Given the description of an element on the screen output the (x, y) to click on. 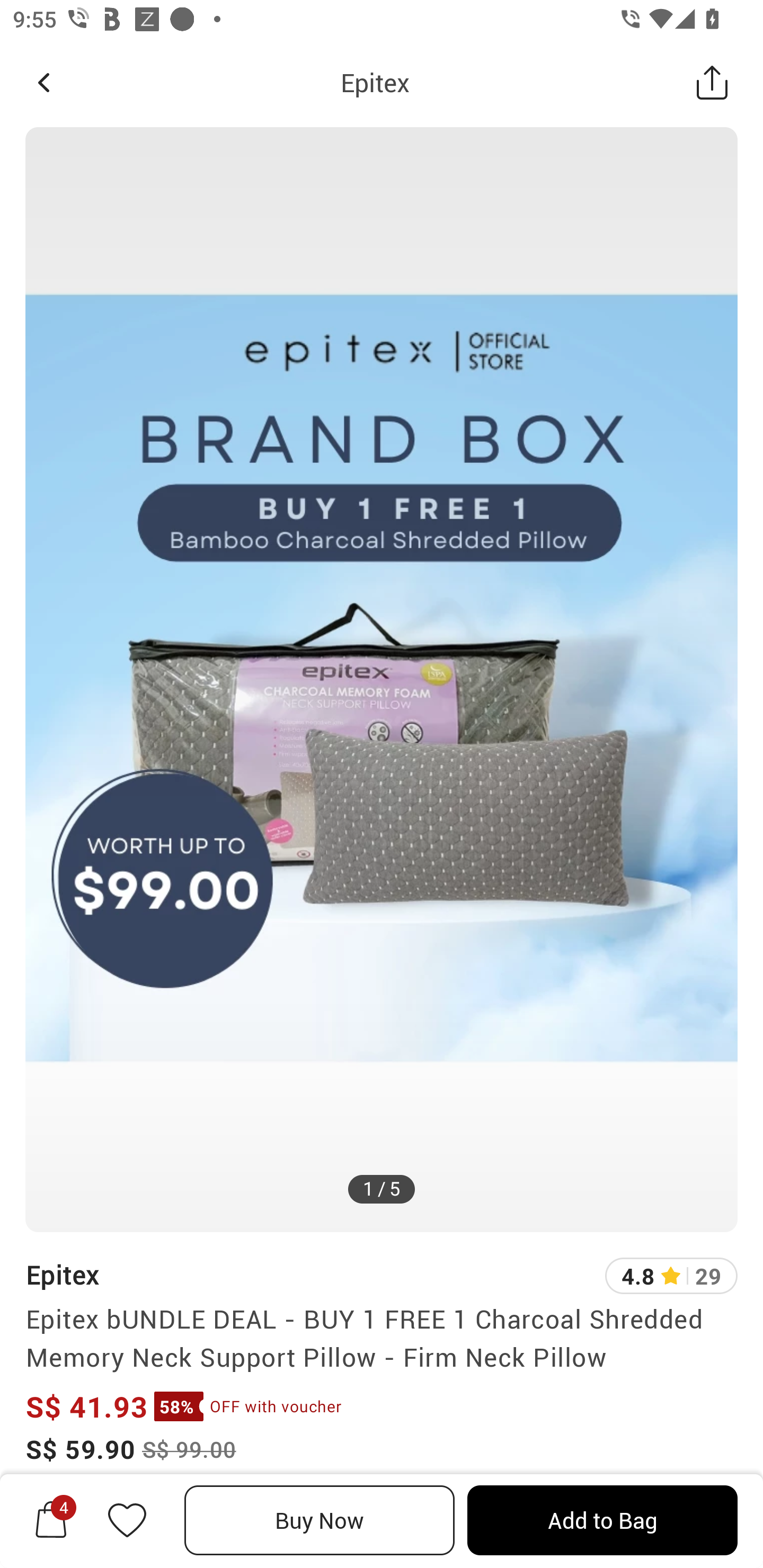
Epitex (375, 82)
Share this Product (711, 82)
Epitex (62, 1274)
4.8 29 (671, 1275)
Buy Now (319, 1519)
Add to Bag (601, 1519)
4 (50, 1520)
